Given the description of an element on the screen output the (x, y) to click on. 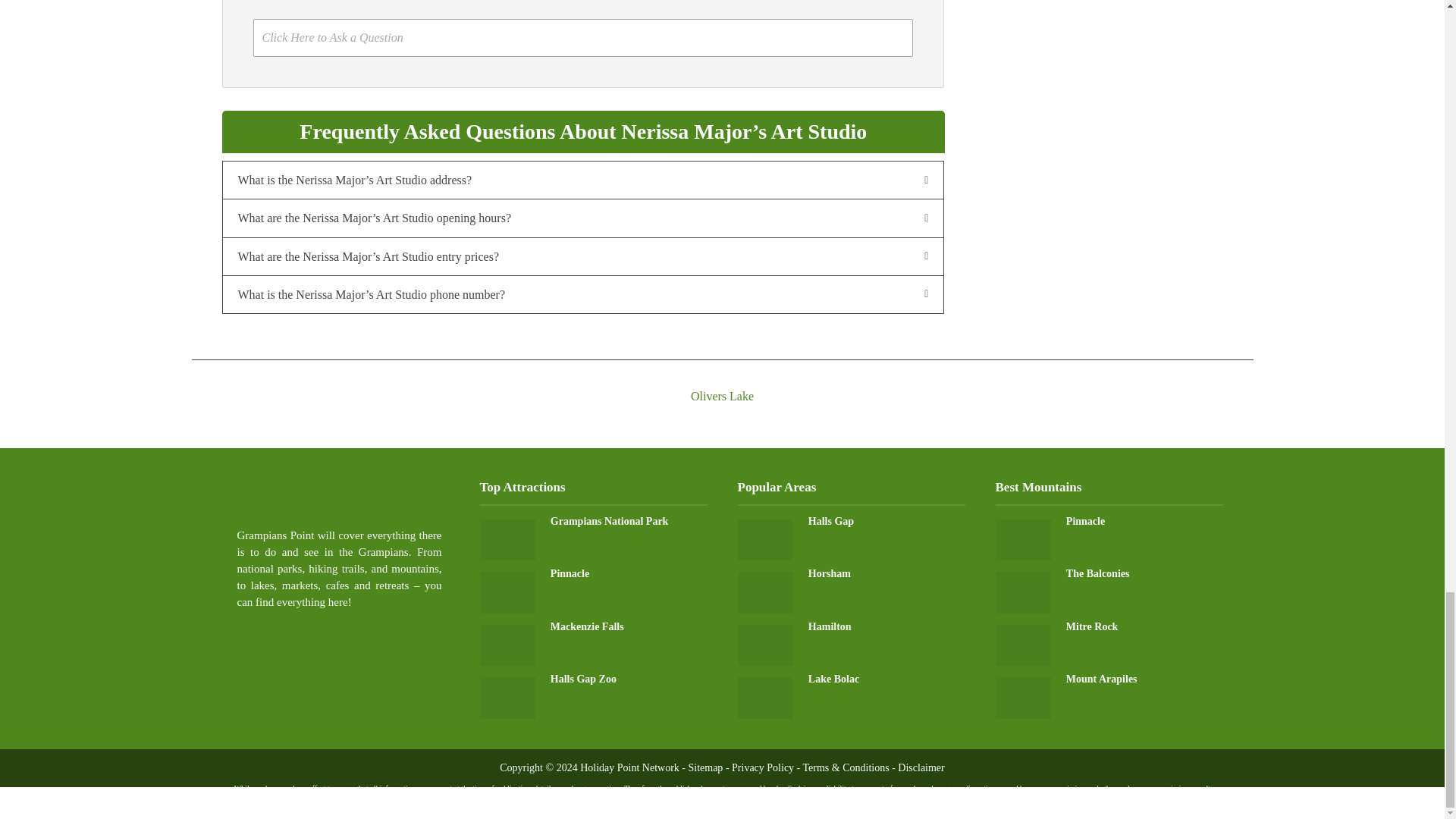
Olivers Lake (721, 382)
